Given the description of an element on the screen output the (x, y) to click on. 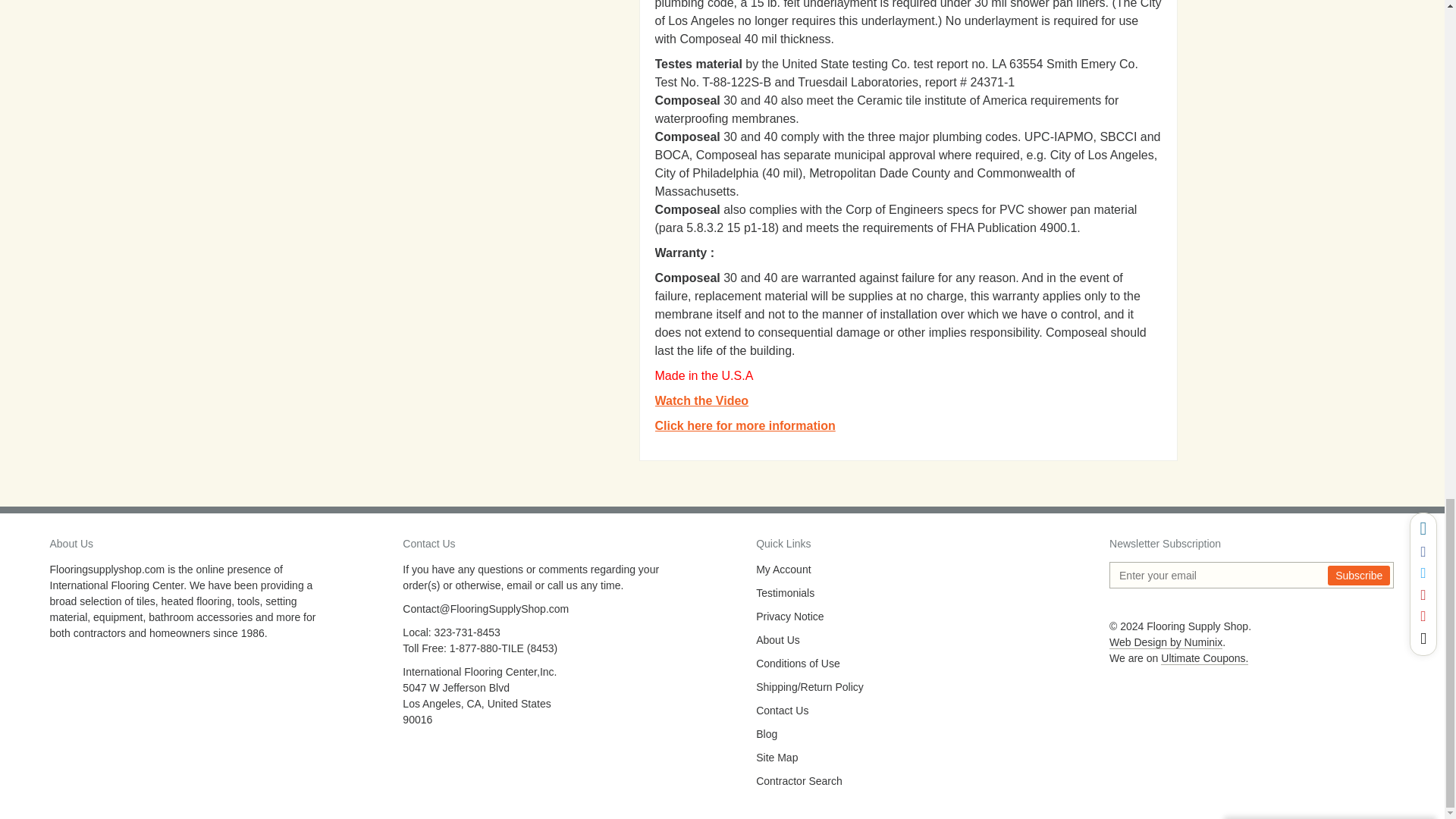
Flooring Supply Shop coupons (1203, 658)
Composeal Blue Vinyl Shower Pan Membrane (745, 425)
Composeal Blue Vinyl Shower Pan Membrane (702, 400)
